Given the description of an element on the screen output the (x, y) to click on. 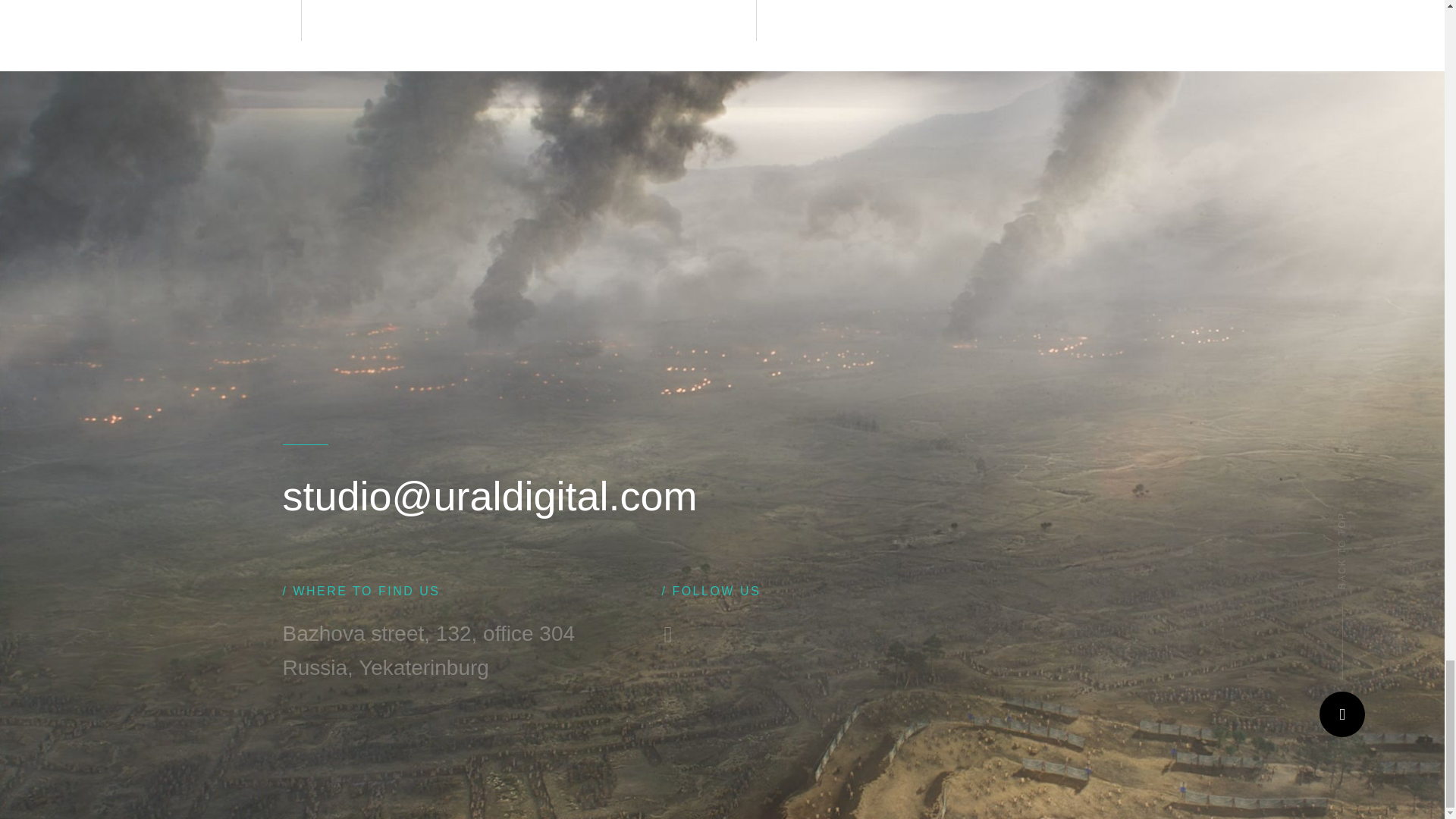
Back to Top (1342, 714)
